Given the description of an element on the screen output the (x, y) to click on. 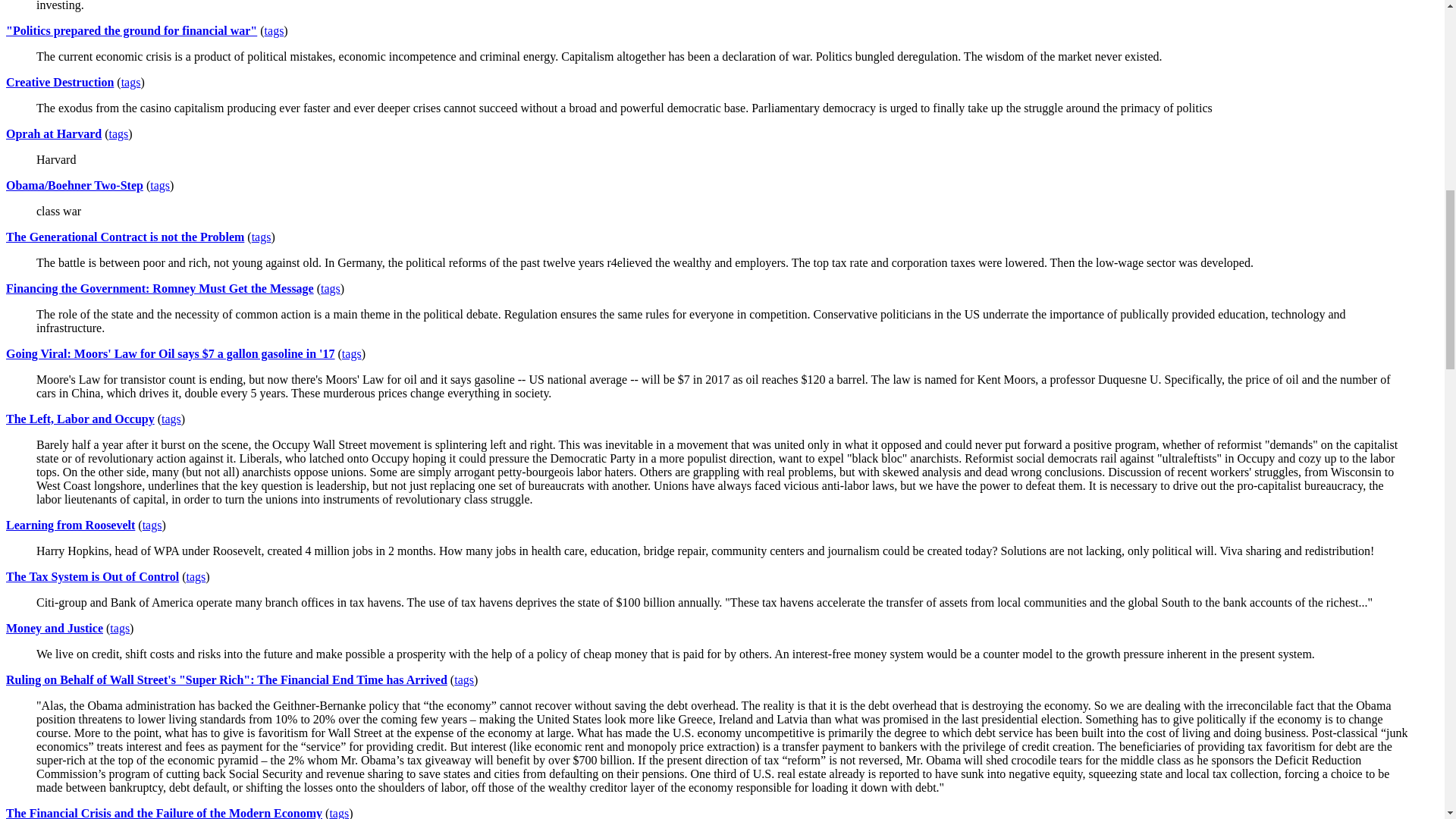
"Politics prepared the ground for financial war" (131, 30)
tags (119, 133)
Creative Destruction (59, 82)
tags (260, 236)
Financing the Government: Romney Must Get the Message (159, 287)
tags (159, 185)
The Generational Contract is not the Problem (124, 236)
tags (273, 30)
tags (130, 82)
Oprah at Harvard (53, 133)
